Given the description of an element on the screen output the (x, y) to click on. 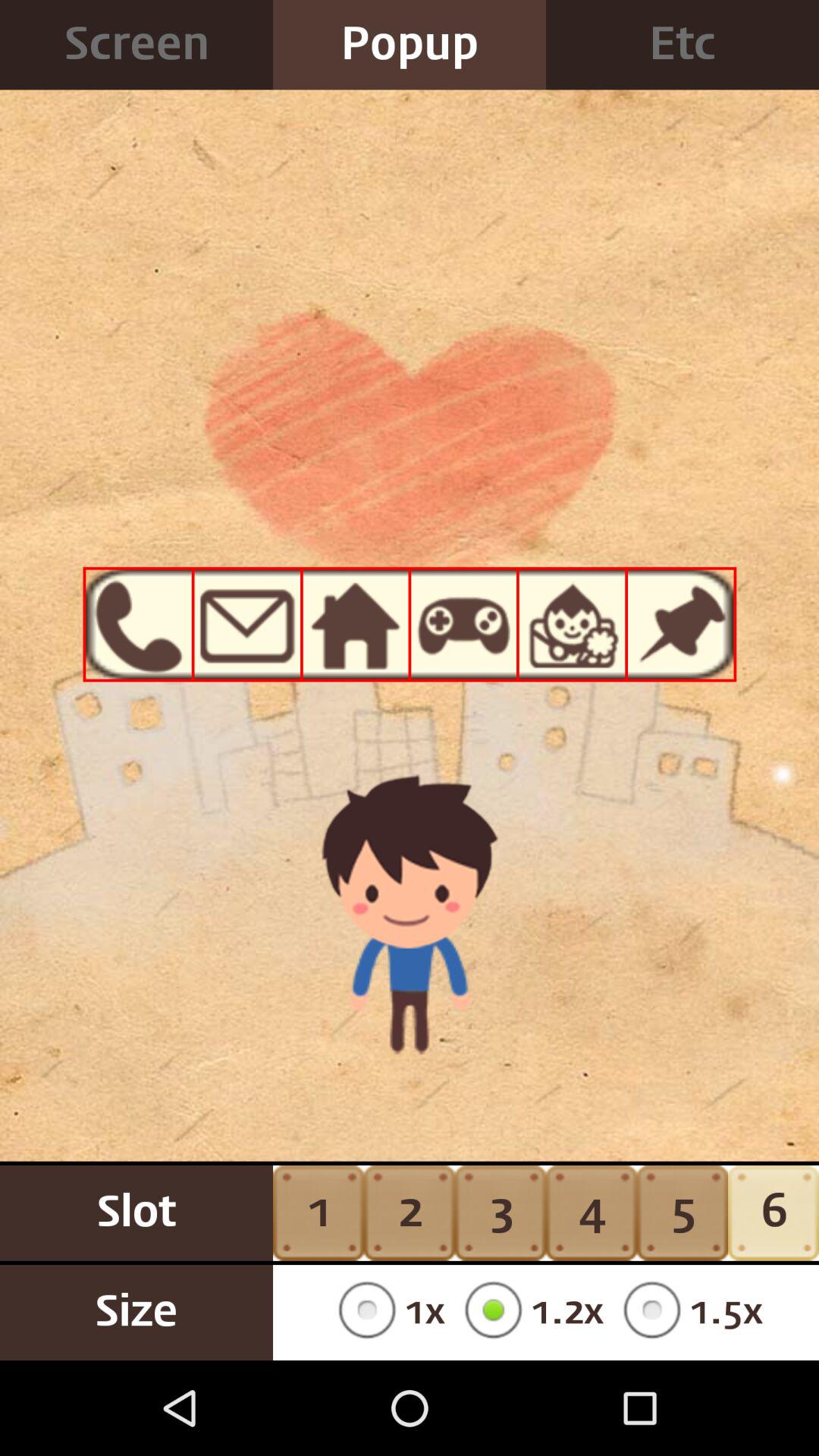
choose icon to the right of the 5 item (773, 1212)
